Given the description of an element on the screen output the (x, y) to click on. 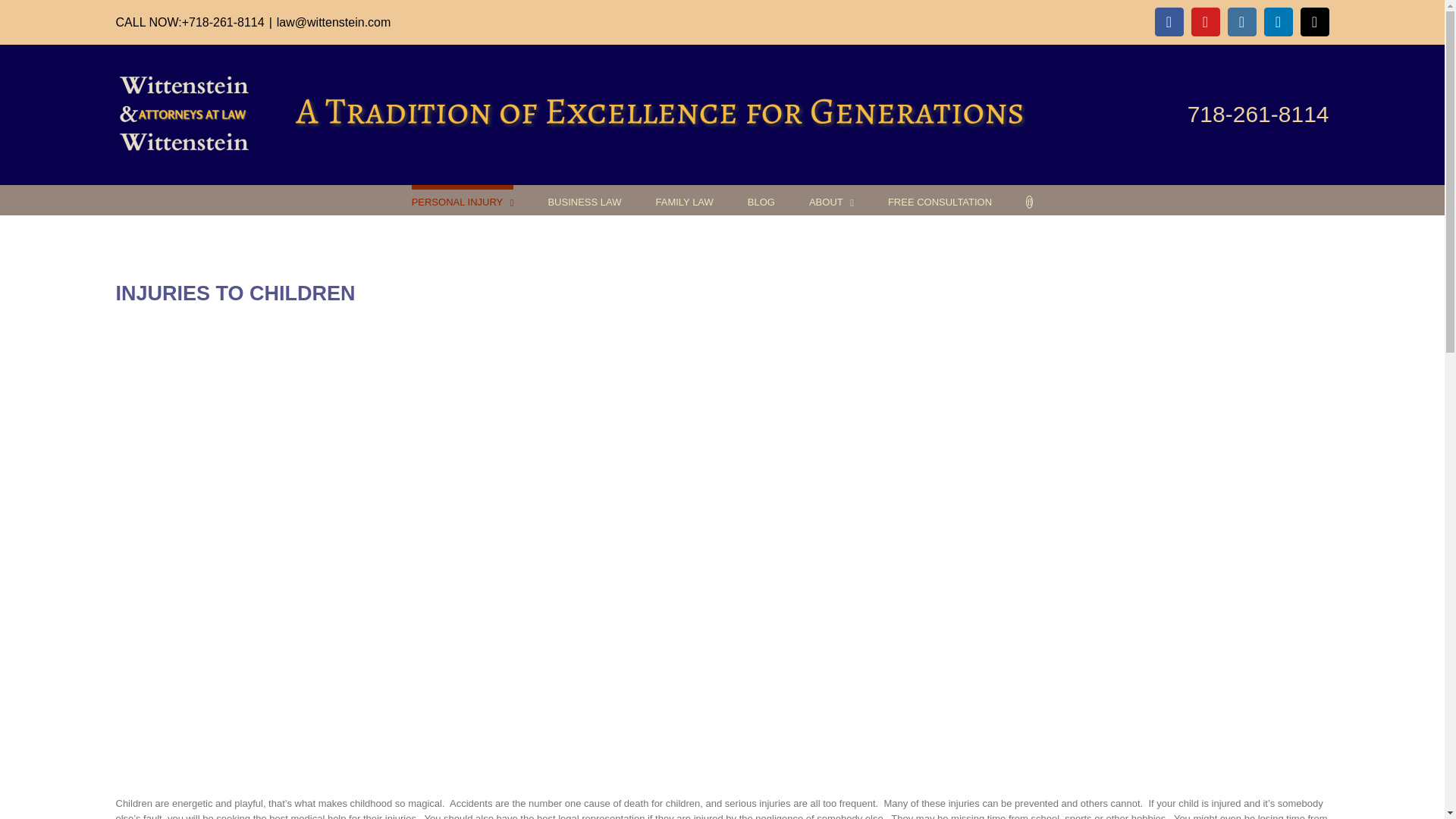
YouTube (1205, 21)
LinkedIn (1277, 21)
YouTube (1205, 21)
Instagram (1241, 21)
Instagram (1241, 21)
LinkedIn (1277, 21)
Email (1314, 21)
Facebook (1168, 21)
Facebook (1168, 21)
Email (1314, 21)
